Given the description of an element on the screen output the (x, y) to click on. 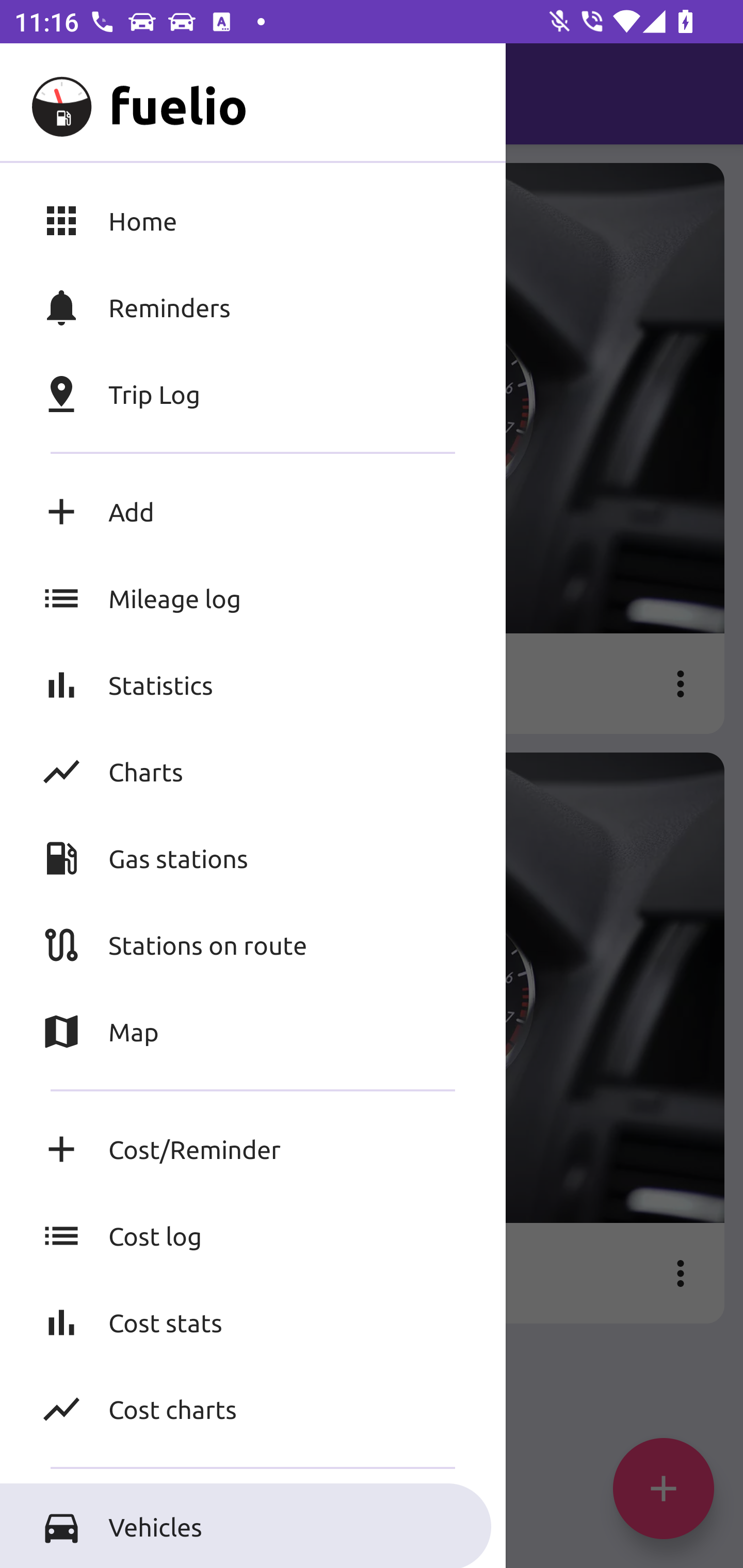
MenuDrawer (50, 93)
Home (252, 220)
Reminders (252, 307)
Trip Log (252, 394)
Add (252, 511)
Mileage log (252, 598)
Statistics (252, 684)
Charts (252, 771)
Gas stations (252, 858)
Stations on route (252, 944)
Map (252, 1031)
Cost/Reminder (252, 1149)
Cost log (252, 1236)
Cost stats (252, 1322)
Cost charts (252, 1408)
Vehicles (252, 1525)
